Given the description of an element on the screen output the (x, y) to click on. 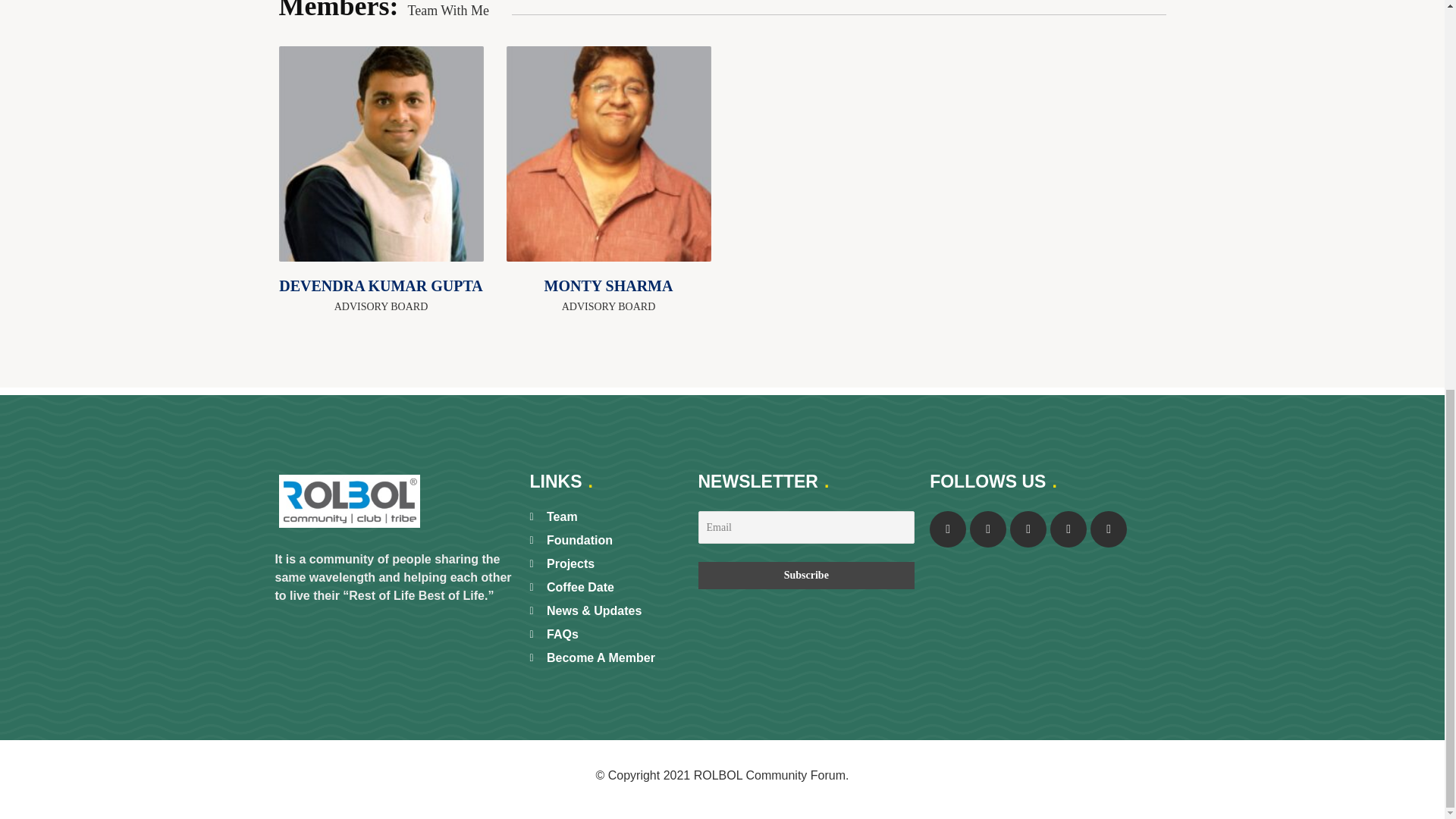
DEVENDRA KUMAR GUPTA (381, 285)
Subscribe (805, 574)
